Given the description of an element on the screen output the (x, y) to click on. 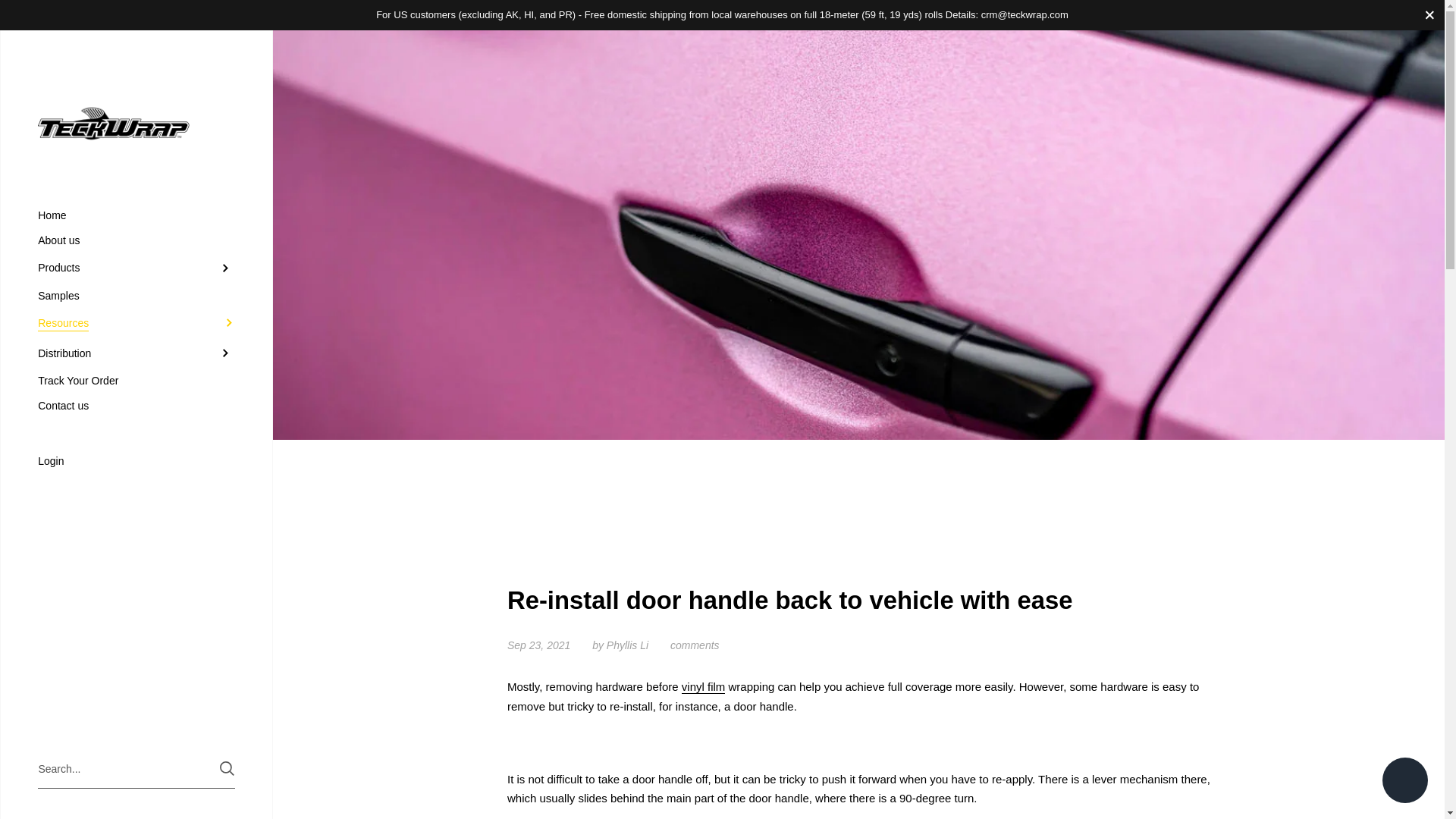
gloss vinyl wrap film (703, 686)
Shopify online store chat (1404, 781)
About us (136, 240)
Products (136, 268)
Resources (136, 322)
Distribution (136, 353)
Samples (136, 295)
Home (136, 215)
